Given the description of an element on the screen output the (x, y) to click on. 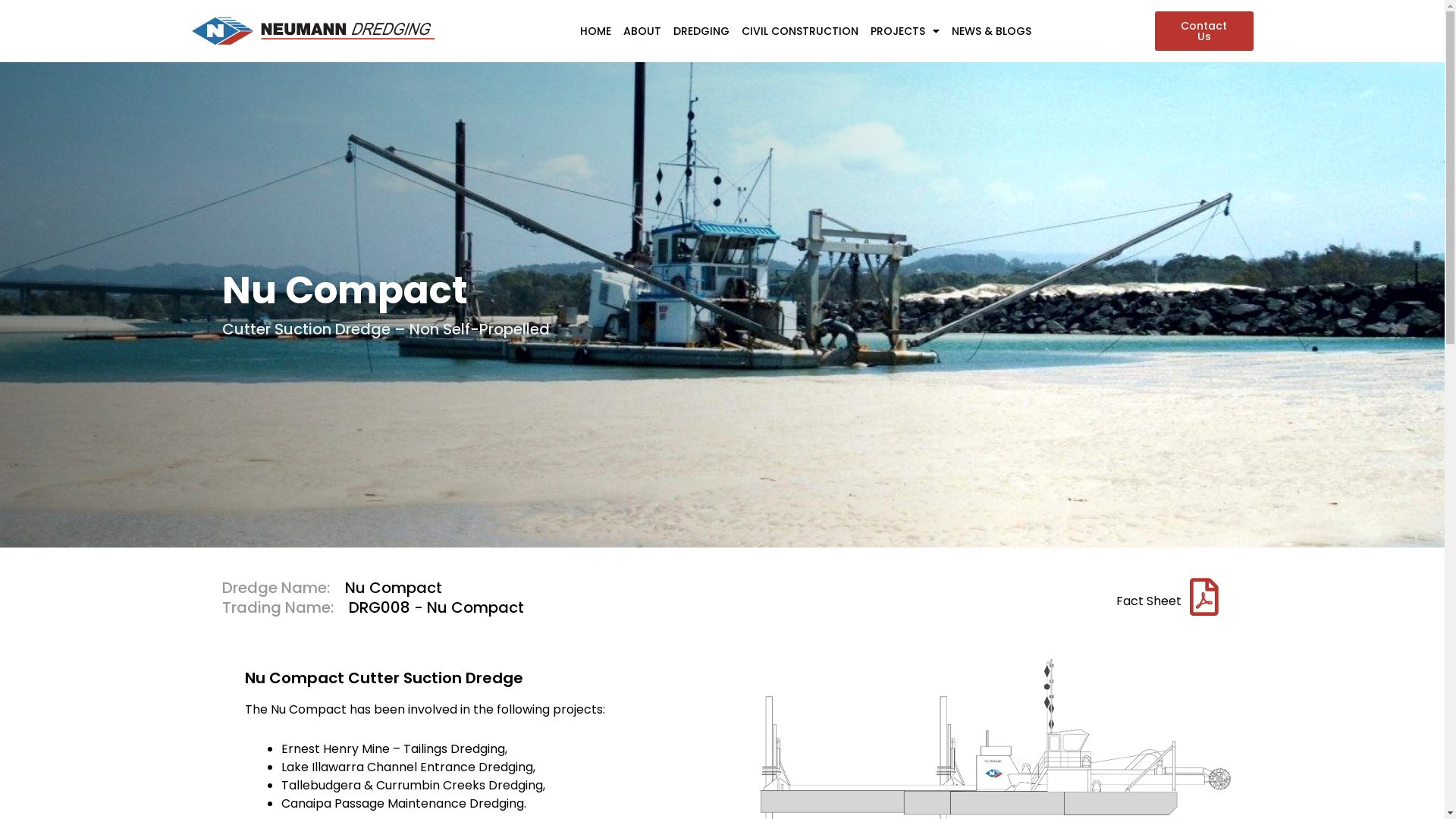
PROJECTS Element type: text (904, 30)
HOME Element type: text (595, 30)
DREDGING Element type: text (701, 30)
NEWS & BLOGS Element type: text (991, 30)
Contact Us Element type: text (1203, 30)
CIVIL CONSTRUCTION Element type: text (799, 30)
ABOUT Element type: text (642, 30)
